Given the description of an element on the screen output the (x, y) to click on. 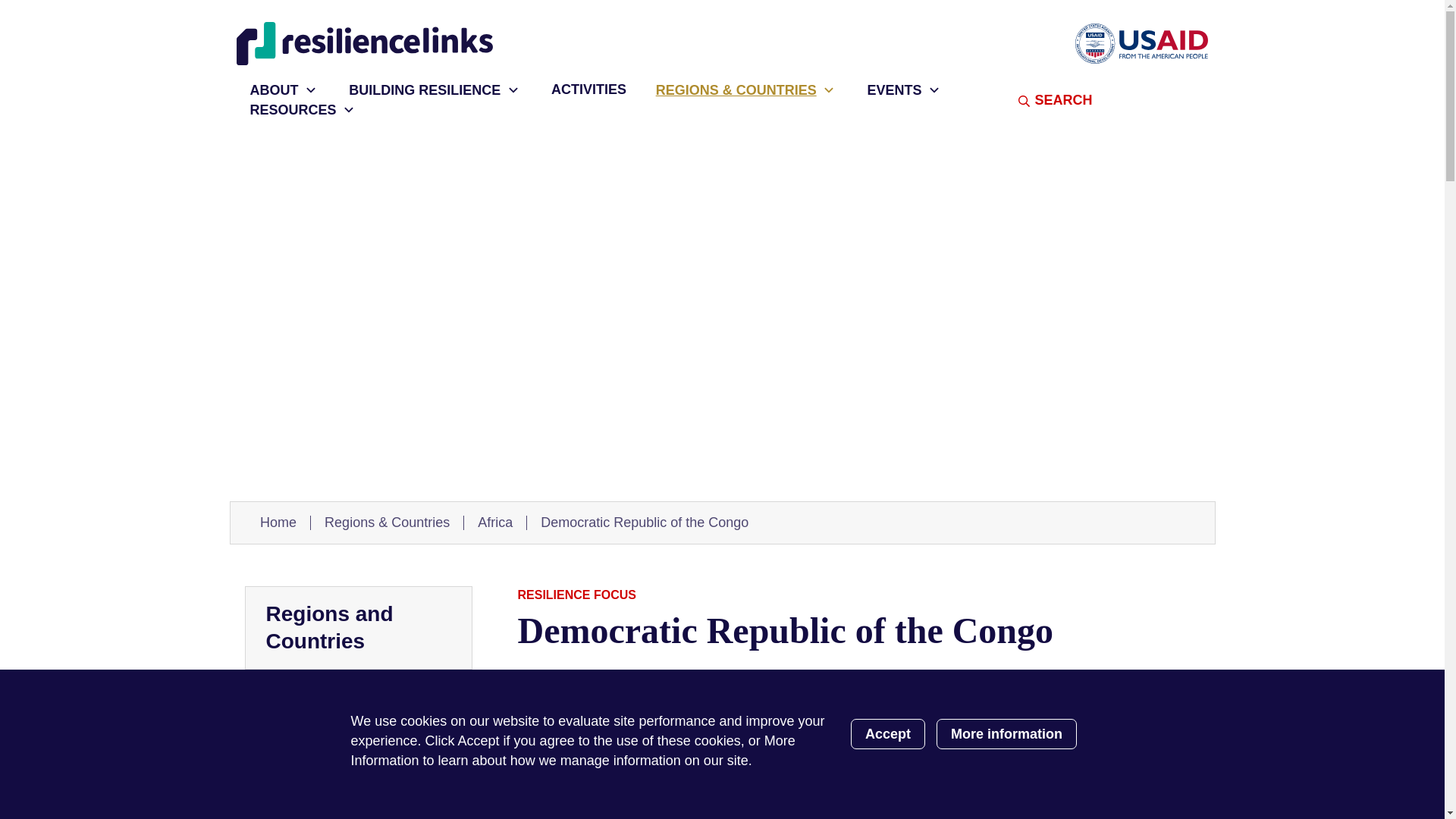
Toggle sub-menu (311, 89)
Burkina Faso (305, 764)
Home (278, 522)
BUILDING RESILIENCE (417, 89)
Toggle sub-menu (349, 109)
Home (367, 43)
ACTIVITIES (581, 89)
Toggle sub-menu (512, 89)
SEARCH (1032, 100)
ABOUT (266, 89)
Democratic Republic of the Congo (644, 522)
Toggle sub-menu (933, 89)
Africa (494, 522)
Toggle sub-menu (829, 89)
